Given the description of an element on the screen output the (x, y) to click on. 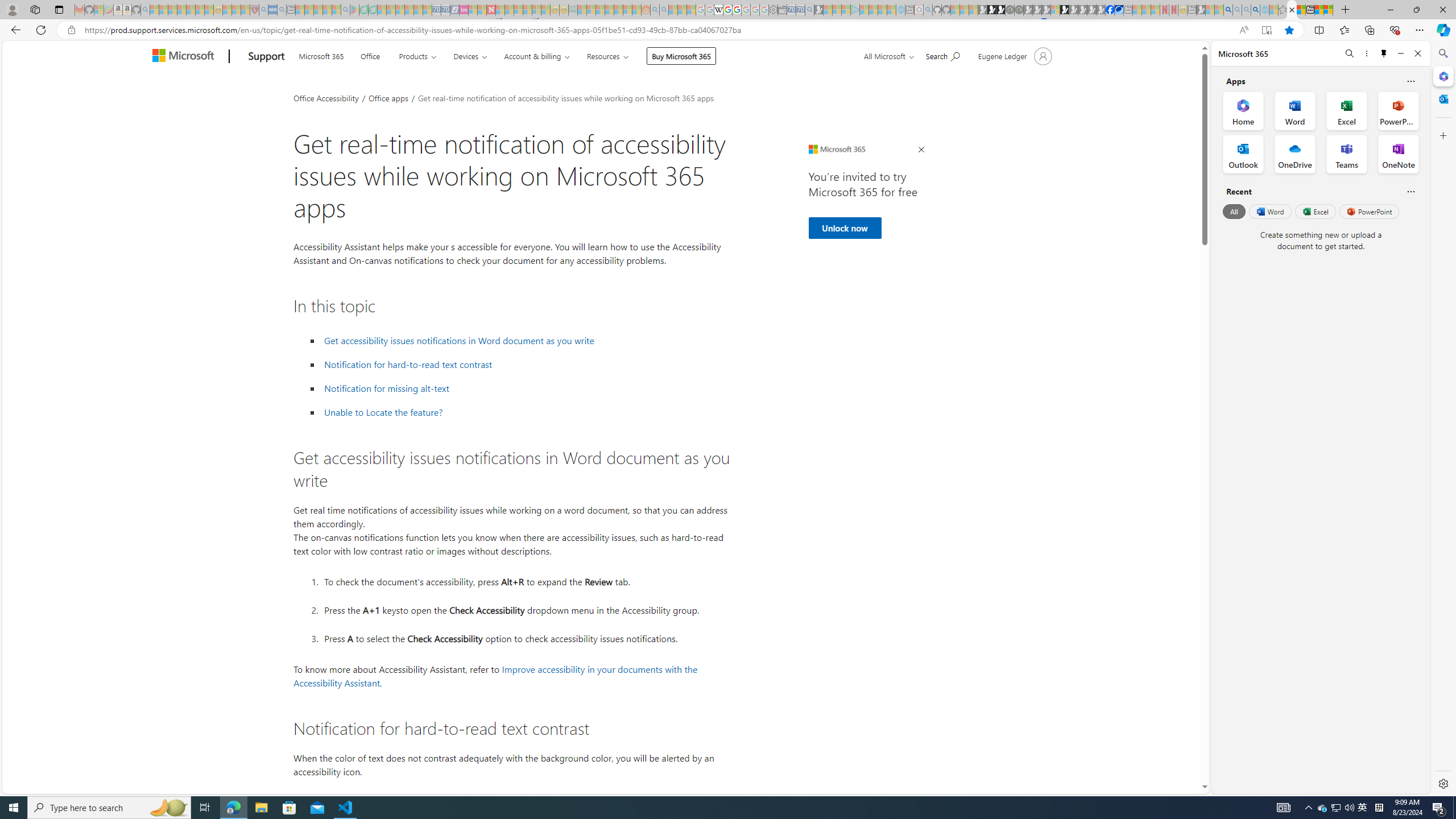
Favorites - Sleeping (1283, 9)
Aberdeen, Hong Kong SAR weather forecast | Microsoft Weather (1300, 9)
Office (369, 54)
MSN - Sleeping (1200, 9)
